Given the description of an element on the screen output the (x, y) to click on. 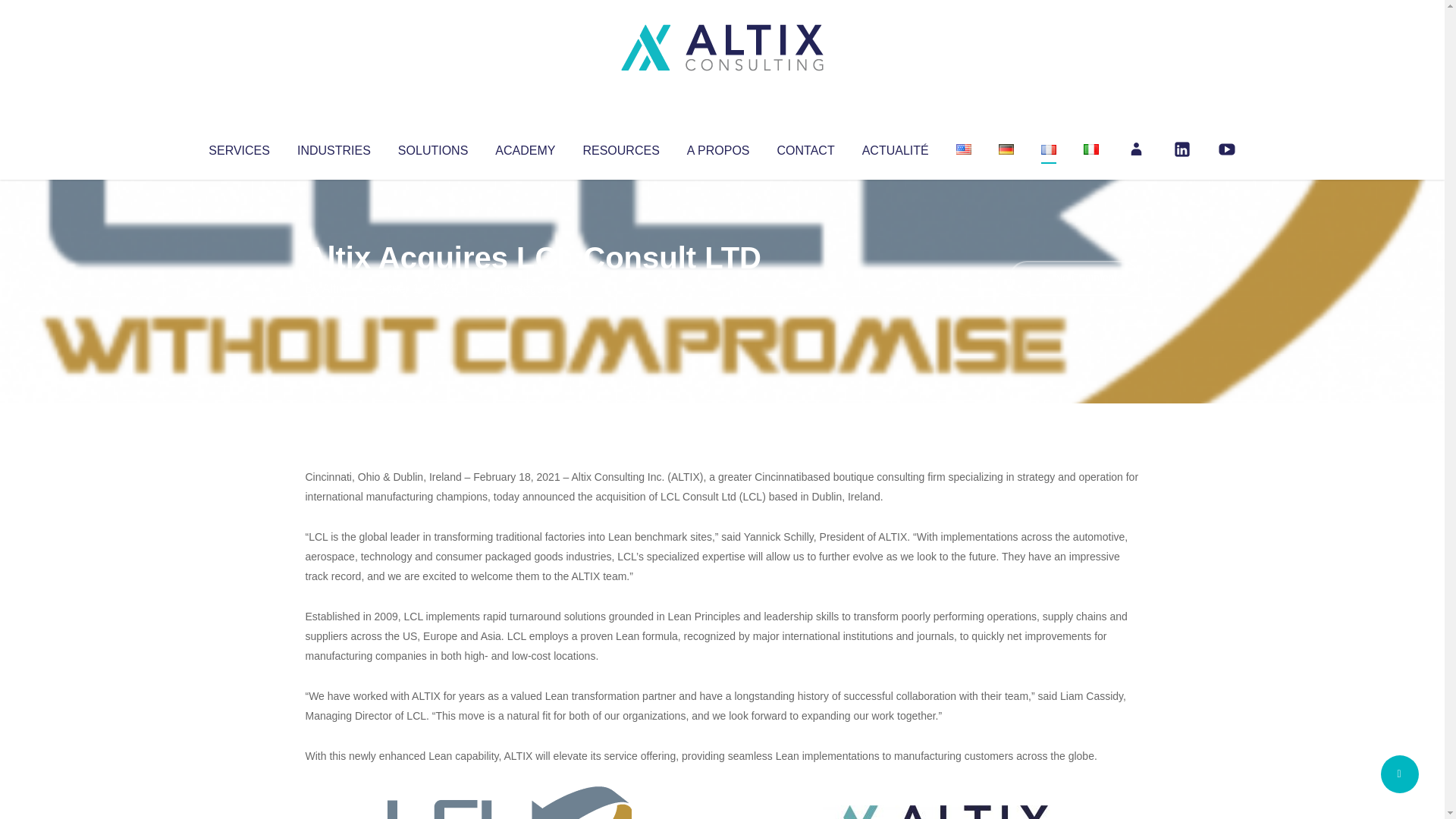
Articles par Altix (333, 287)
RESOURCES (620, 146)
Altix (333, 287)
SERVICES (238, 146)
No Comments (1073, 278)
Uncategorized (530, 287)
INDUSTRIES (334, 146)
A PROPOS (718, 146)
SOLUTIONS (432, 146)
ACADEMY (524, 146)
